Given the description of an element on the screen output the (x, y) to click on. 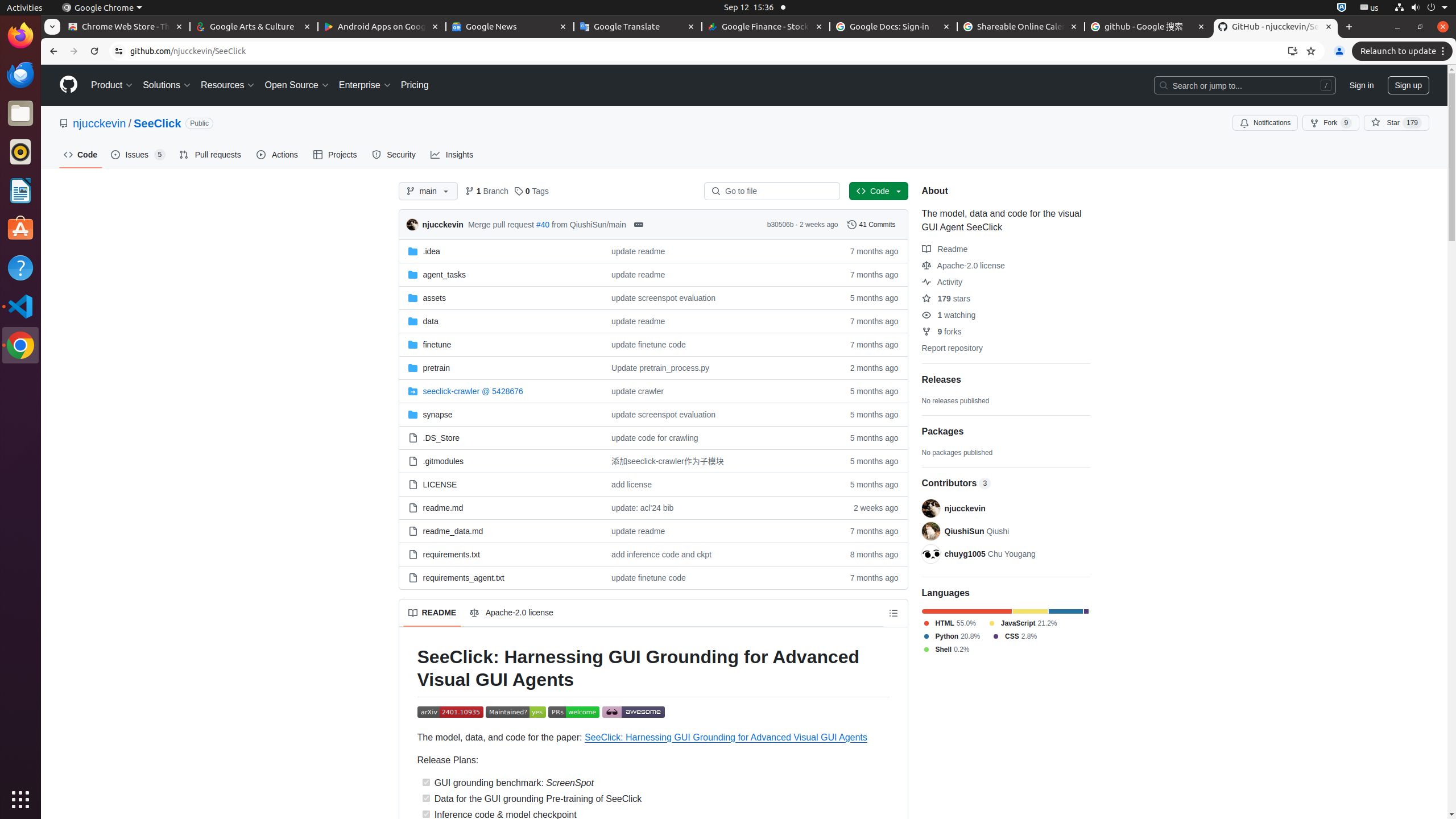
Files Element type: push-button (20, 113)
Packages Element type: link (1005, 431)
Projects Element type: link (335, 154)
7 months ago Element type: table-cell (868, 577)
add license Element type: link (631, 484)
